Given the description of an element on the screen output the (x, y) to click on. 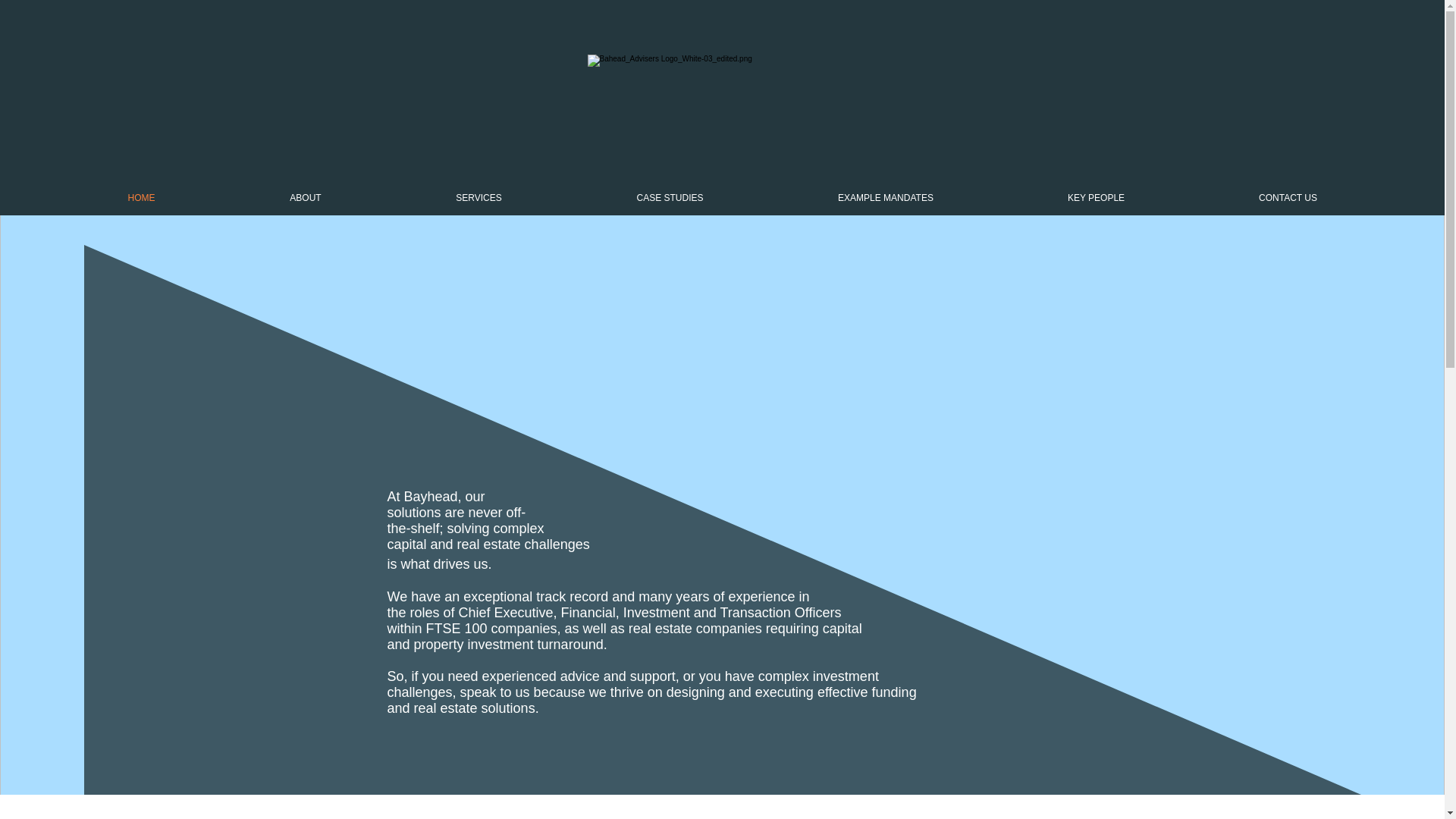
HOME (141, 197)
SERVICES (478, 197)
ABOUT (305, 197)
EXAMPLE MANDATES (885, 197)
KEY PEOPLE (1095, 197)
CASE STUDIES (669, 197)
CONTACT US (1287, 197)
